Given the description of an element on the screen output the (x, y) to click on. 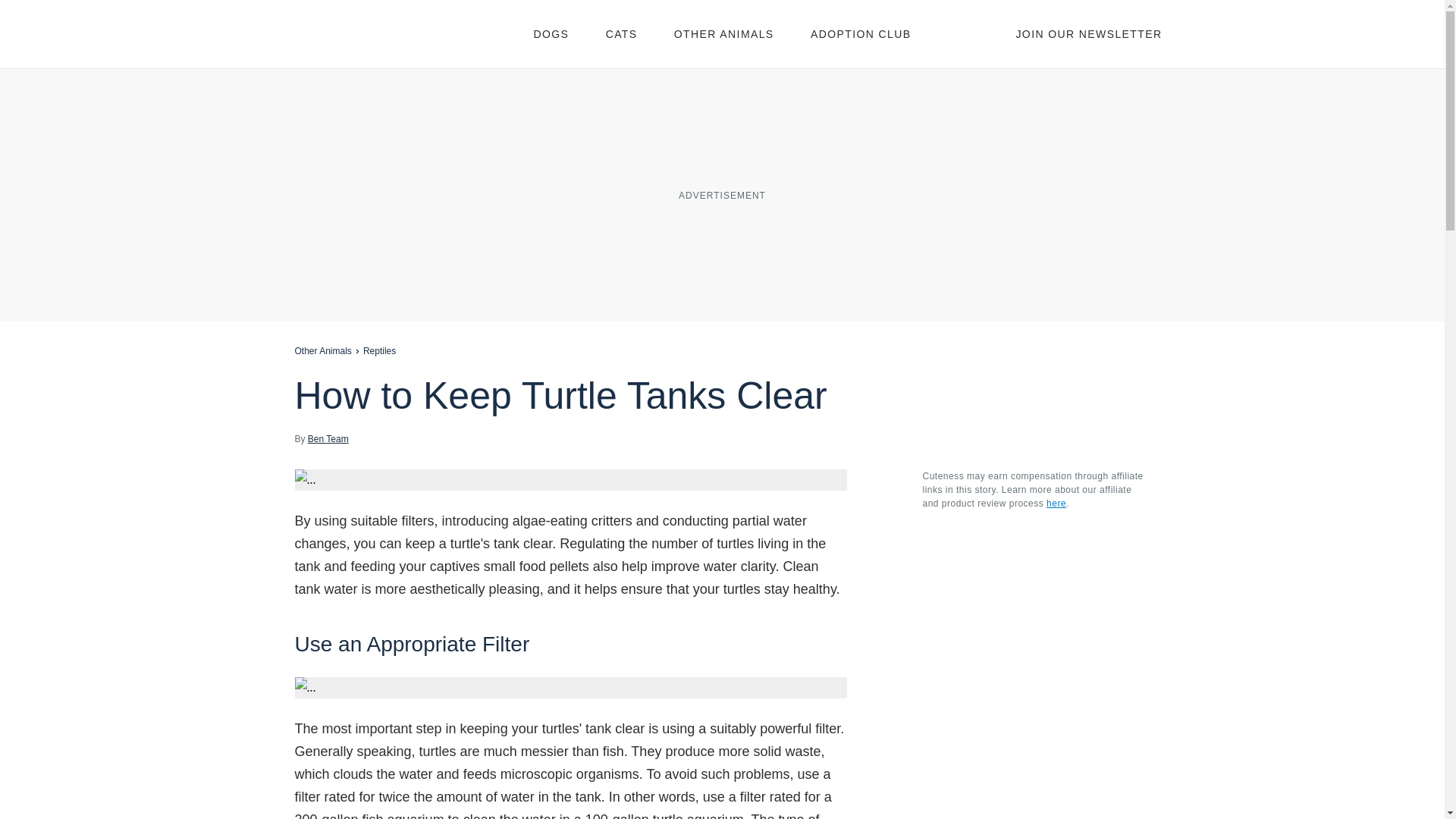
Learn more about our affiliate and product review process (1055, 502)
Other Animals (322, 350)
ADOPTION CLUB (860, 33)
Reptiles (379, 350)
JOIN OUR NEWSLETTER (1087, 33)
Ben Team (328, 438)
